Given the description of an element on the screen output the (x, y) to click on. 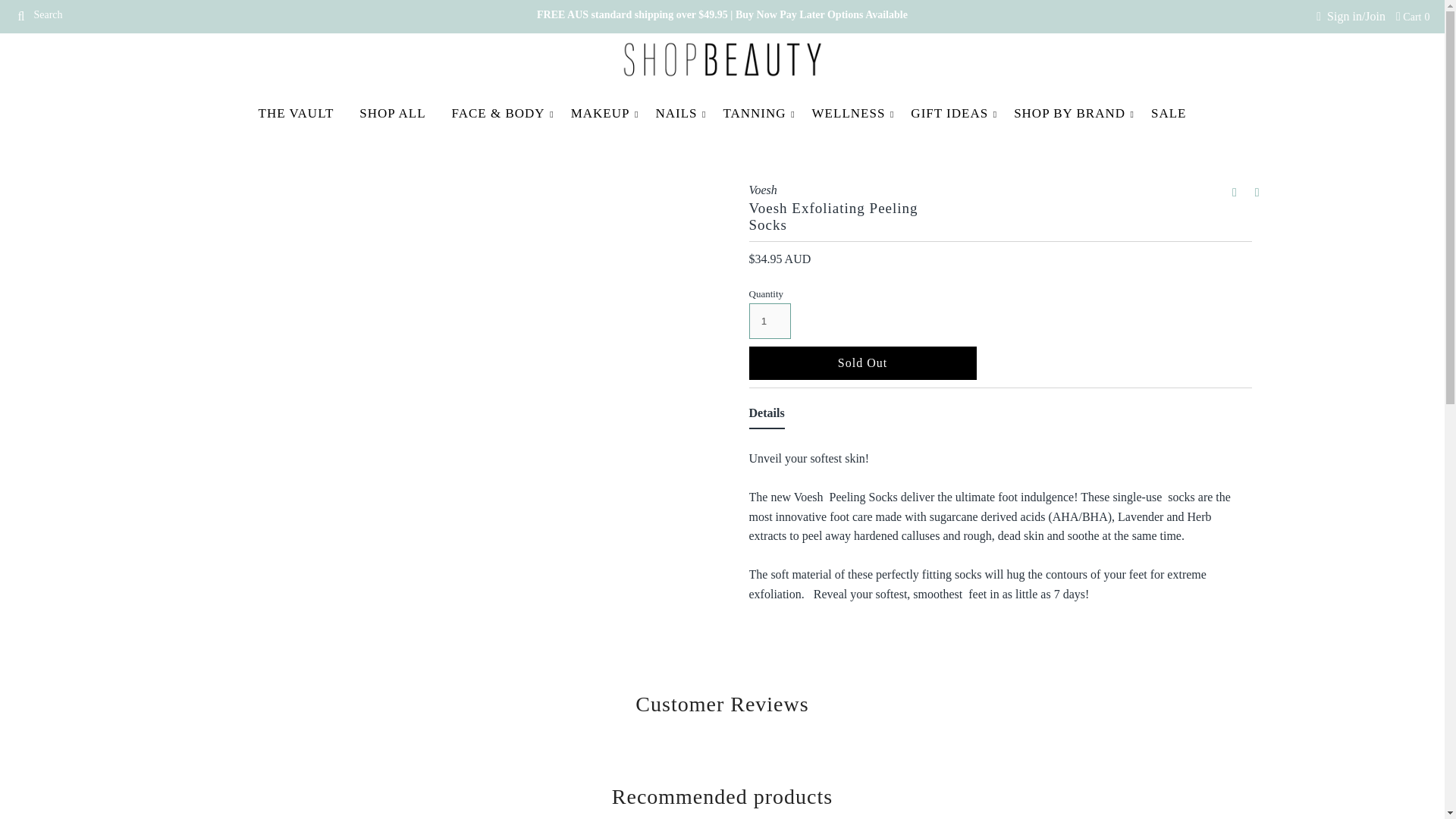
Sold Out (862, 363)
1 (769, 321)
